Given the description of an element on the screen output the (x, y) to click on. 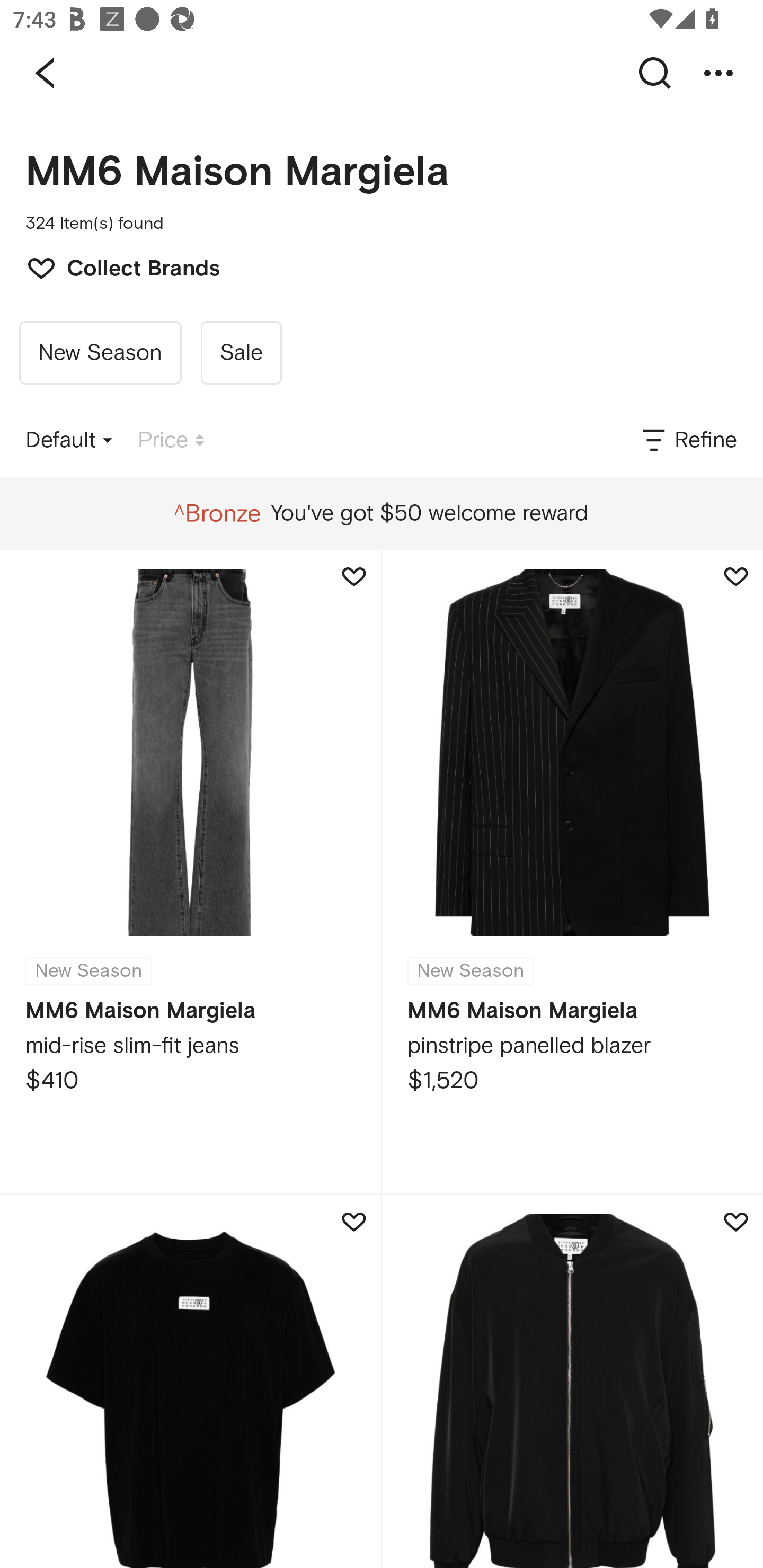
Collect Brands (114, 266)
New Season (100, 352)
Sale (240, 352)
Default (68, 440)
Price (171, 440)
Refine (688, 440)
You've got $50 welcome reward (381, 513)
